Given the description of an element on the screen output the (x, y) to click on. 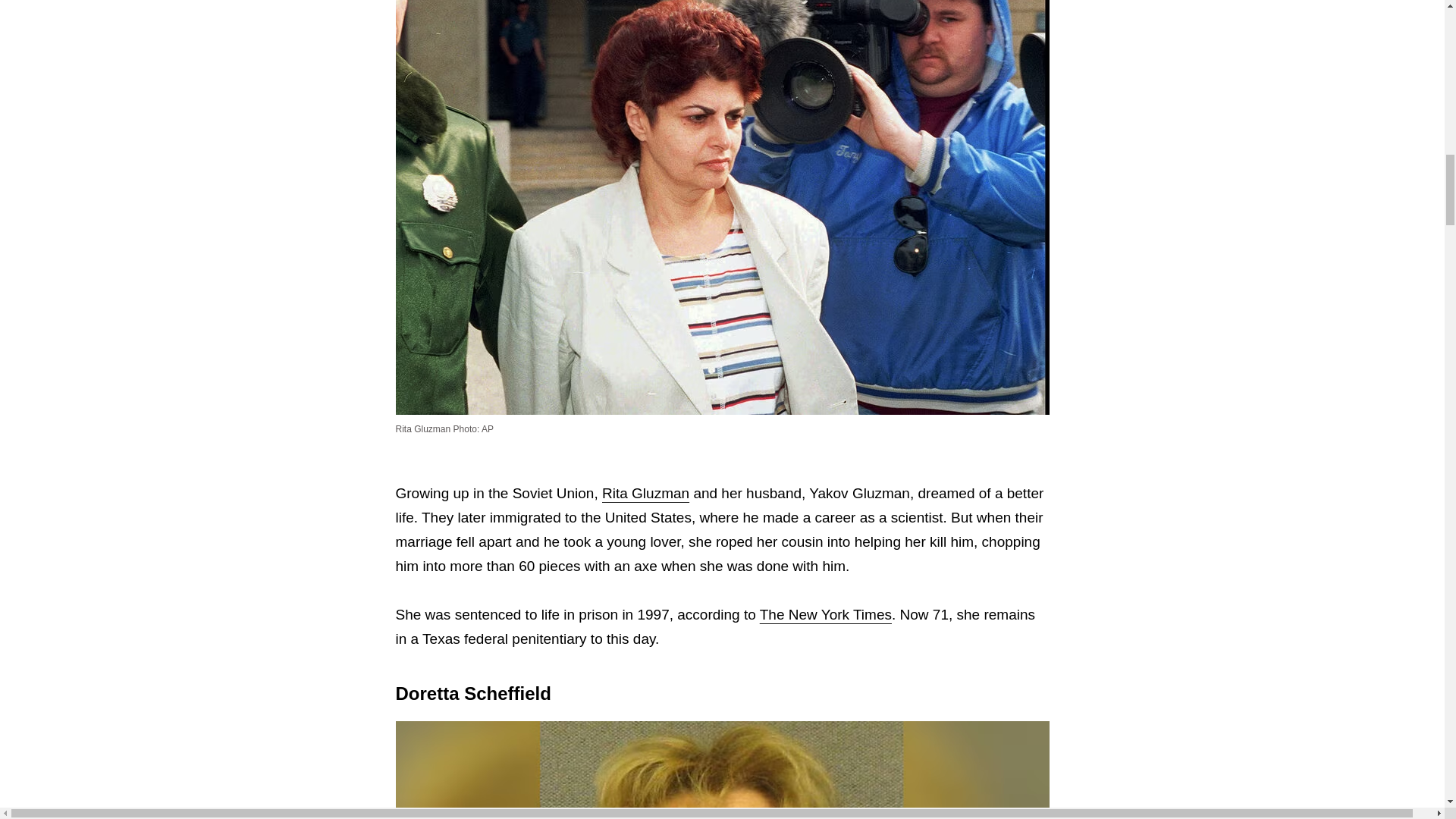
The New York Times (825, 614)
Rita Gluzman (645, 493)
